Given the description of an element on the screen output the (x, y) to click on. 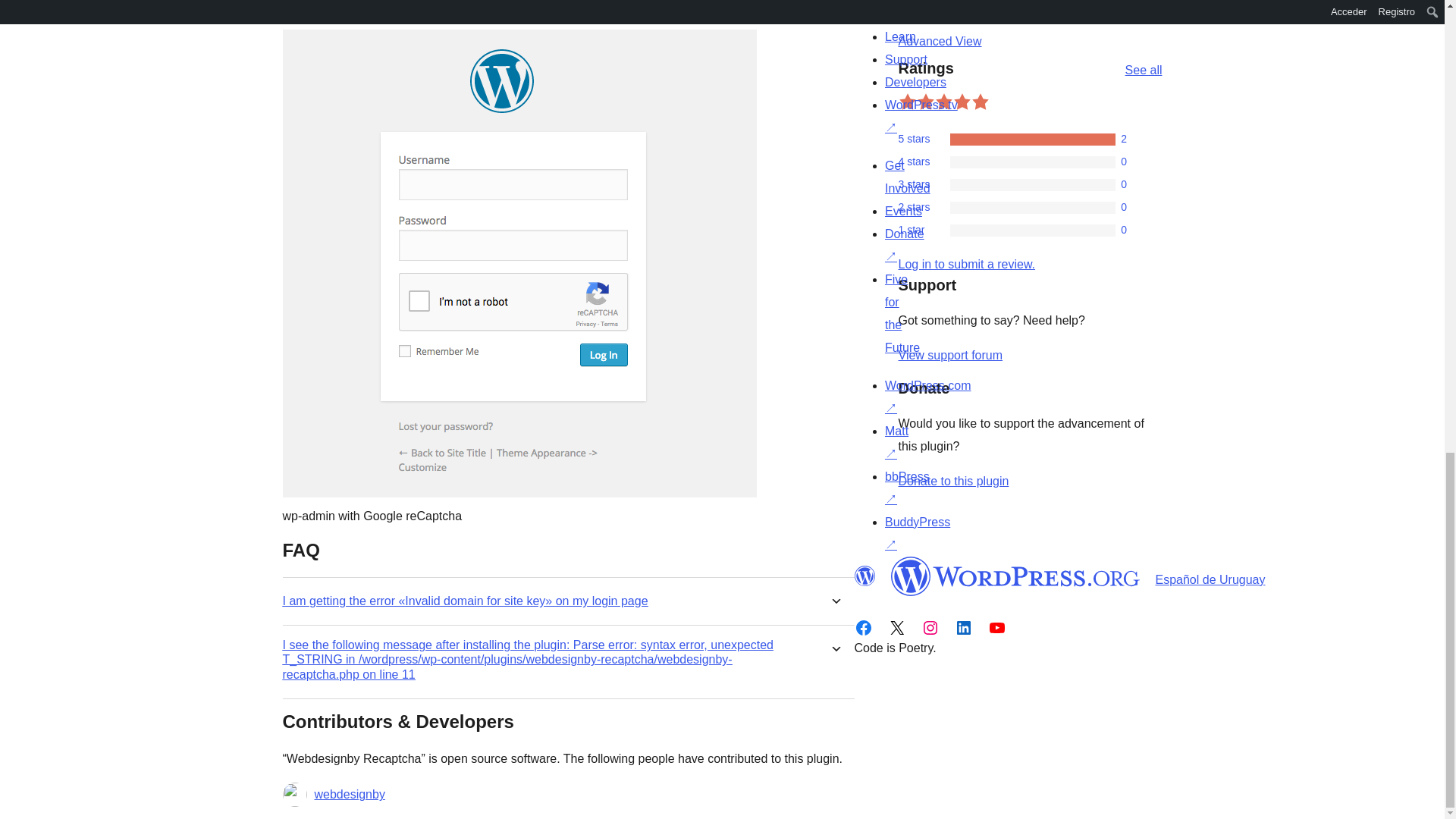
WordPress.org (864, 576)
Log in to WordPress.org (966, 264)
WordPress.org (1014, 576)
